Given the description of an element on the screen output the (x, y) to click on. 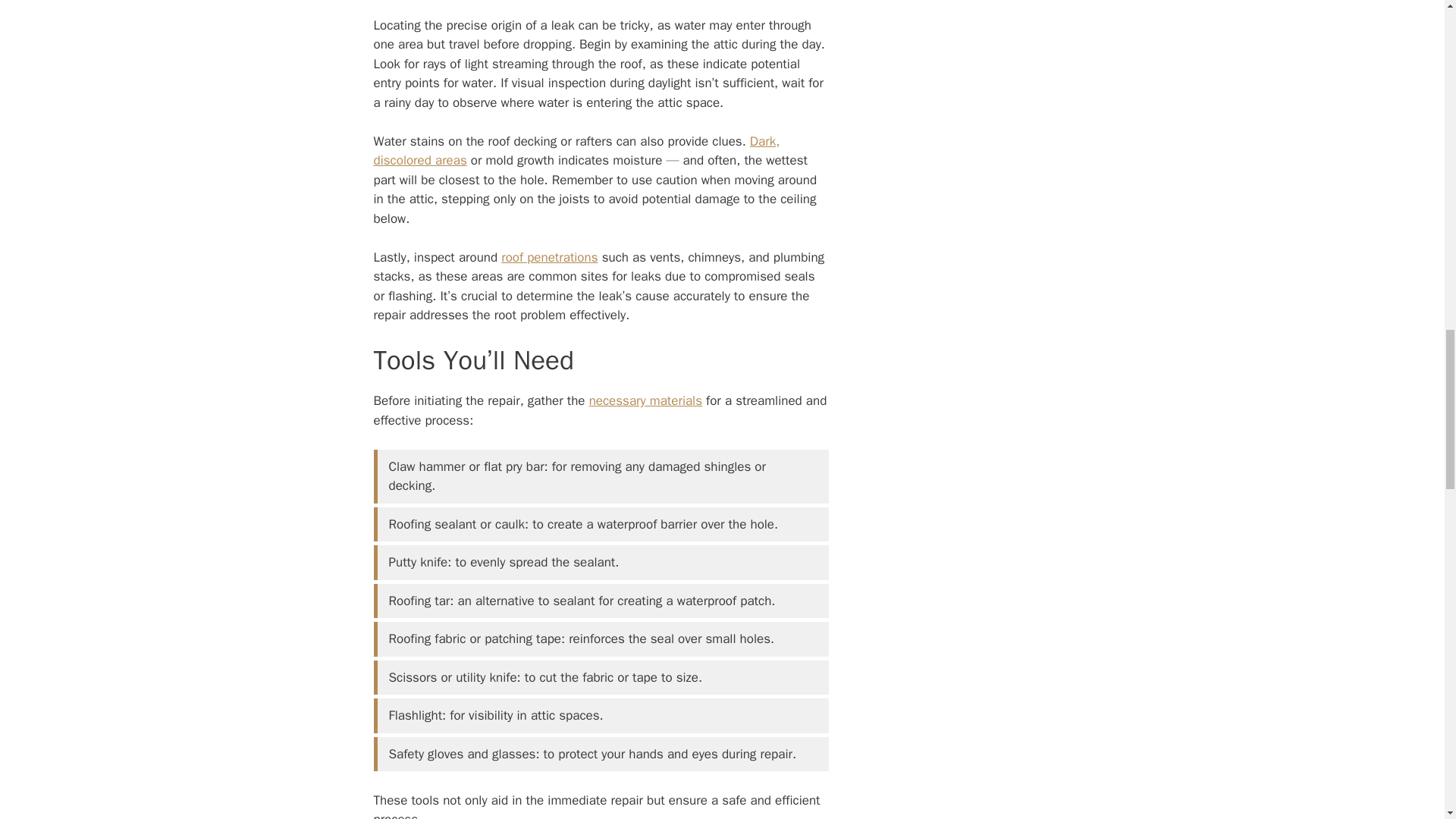
necessary materials (645, 400)
Dark, discolored areas (575, 150)
roof penetrations (548, 257)
